Given the description of an element on the screen output the (x, y) to click on. 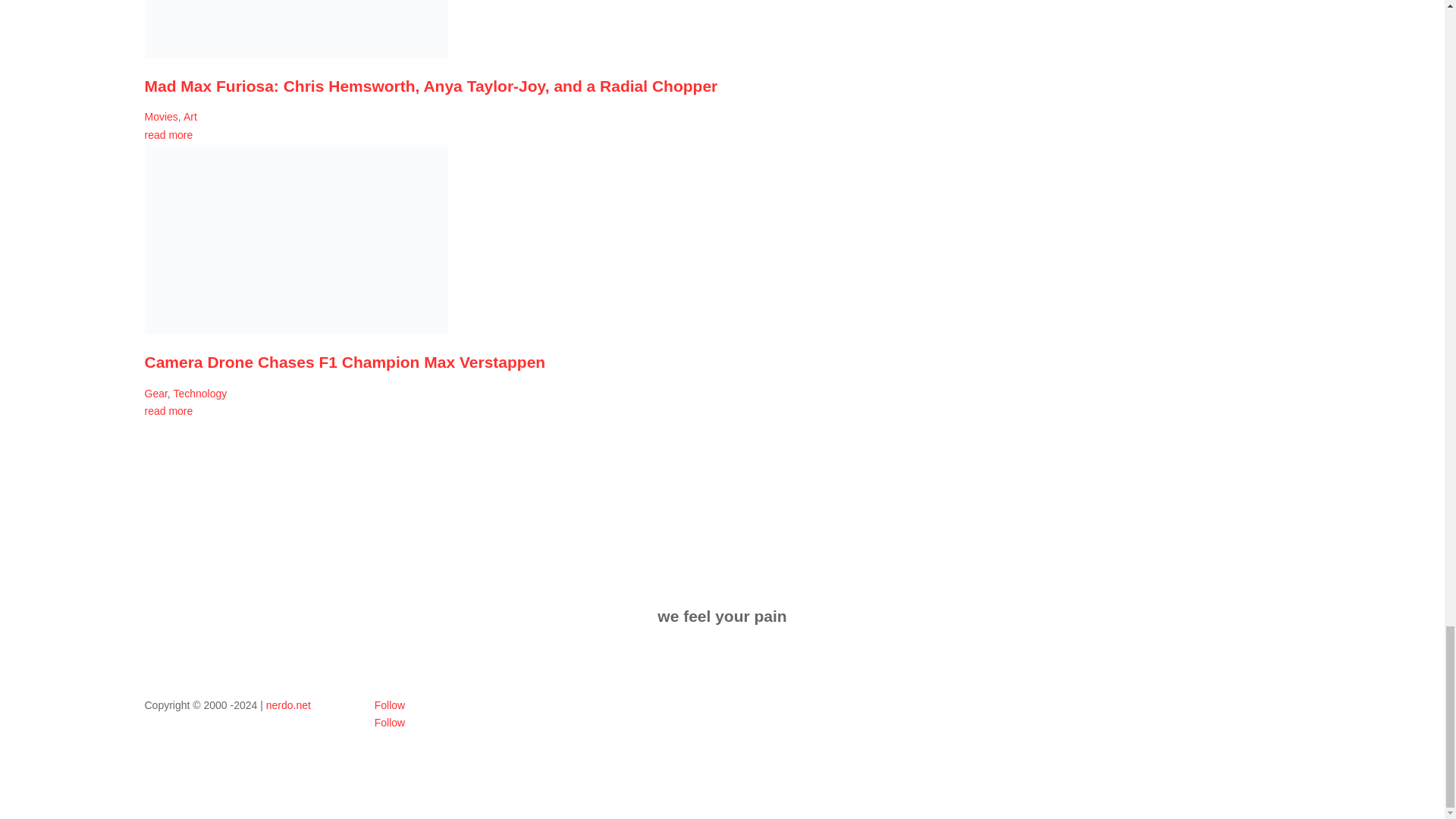
Camera Drone Chases F1 Champion Max Verstappen (344, 361)
Art (189, 116)
Follow (389, 722)
X (389, 722)
Movies (160, 116)
Follow (389, 705)
Gear (155, 393)
read more (168, 410)
read more (168, 134)
